Given the description of an element on the screen output the (x, y) to click on. 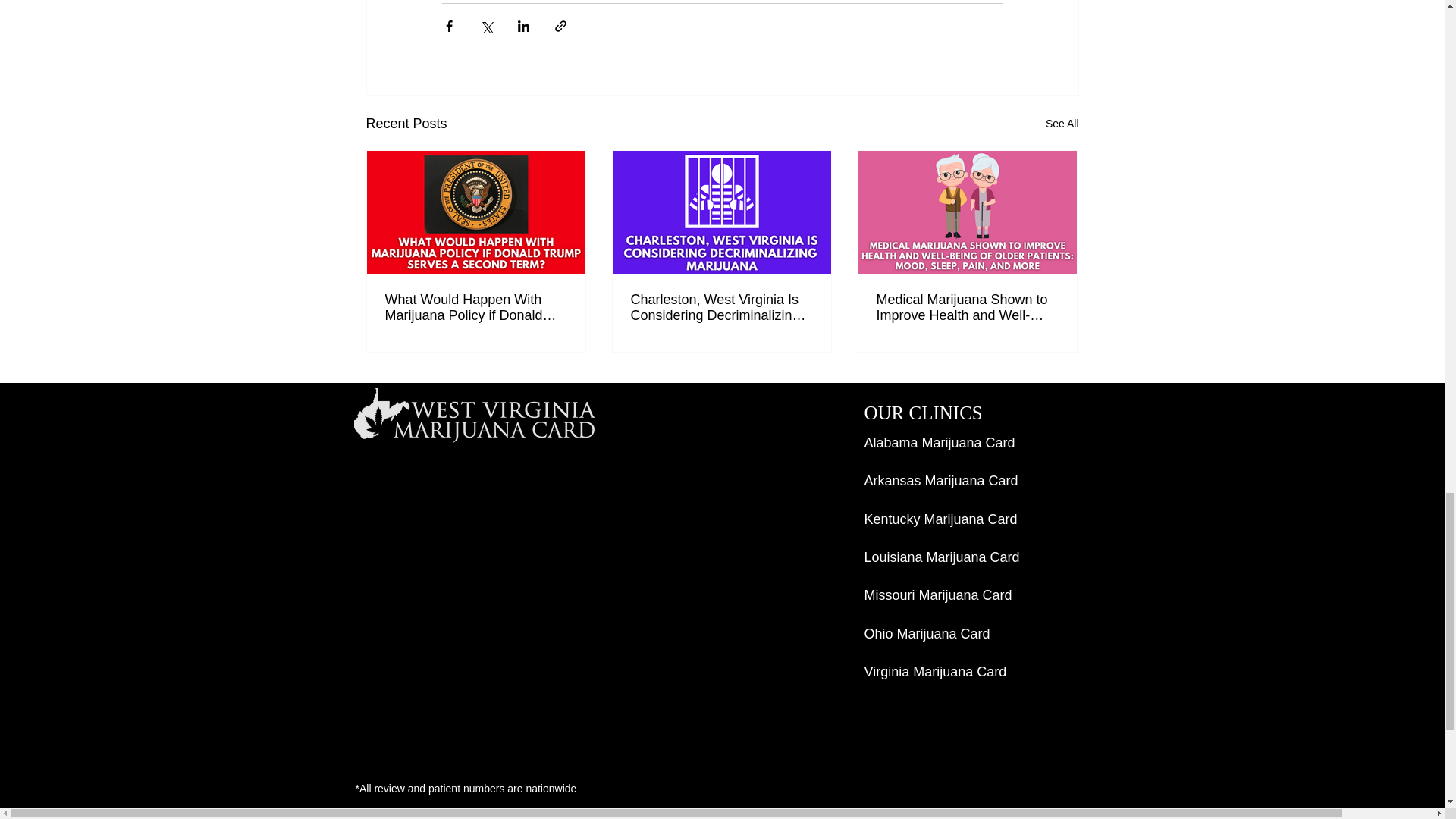
Alabama Marijuana Card (939, 442)
Arkansas Marijuana Card (940, 480)
Kentucky Marijuana Card (940, 519)
See All (1061, 124)
